Given the description of an element on the screen output the (x, y) to click on. 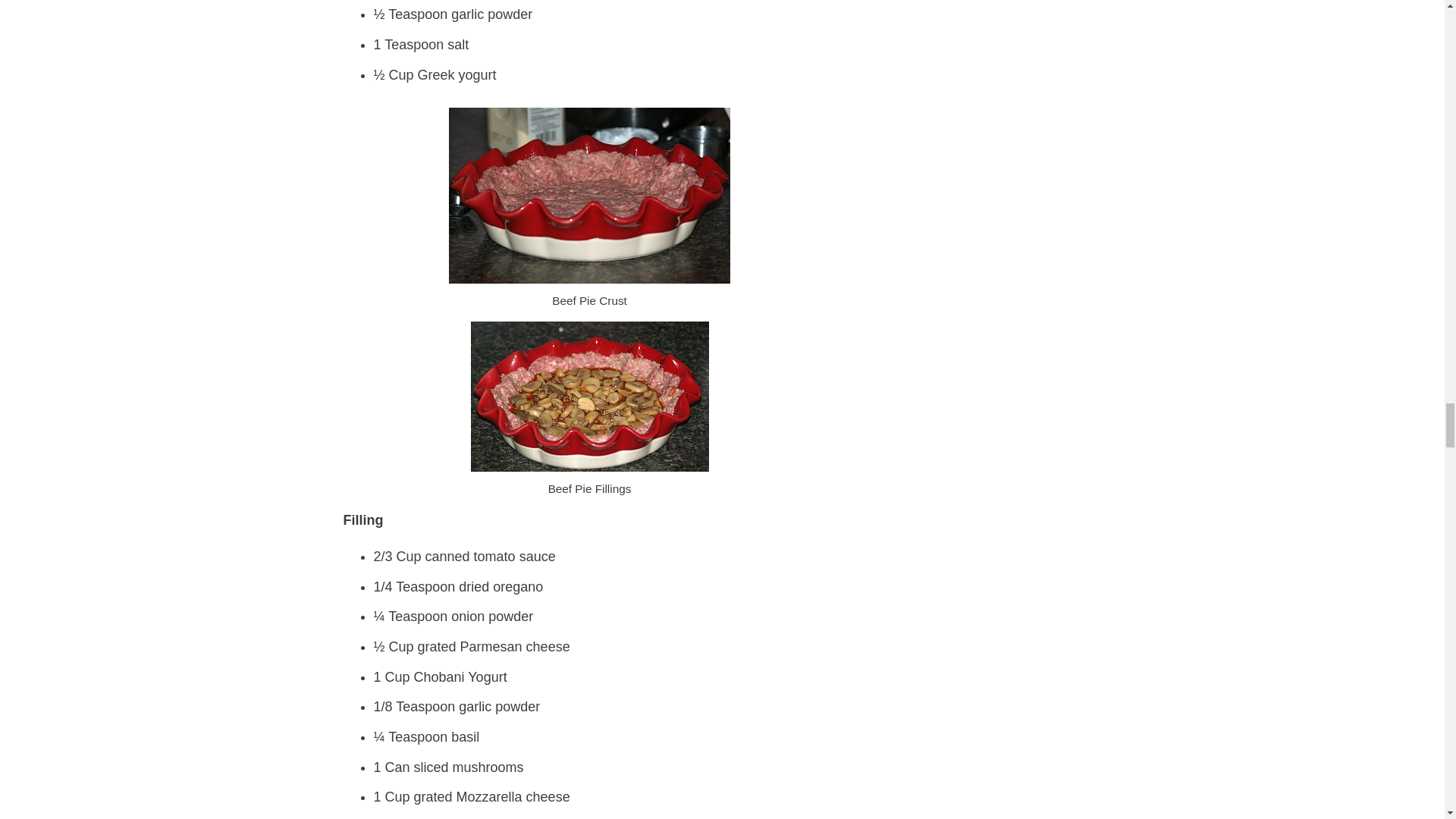
Beef Pie Crust (589, 195)
Beef Pie Fillings (588, 396)
